Given the description of an element on the screen output the (x, y) to click on. 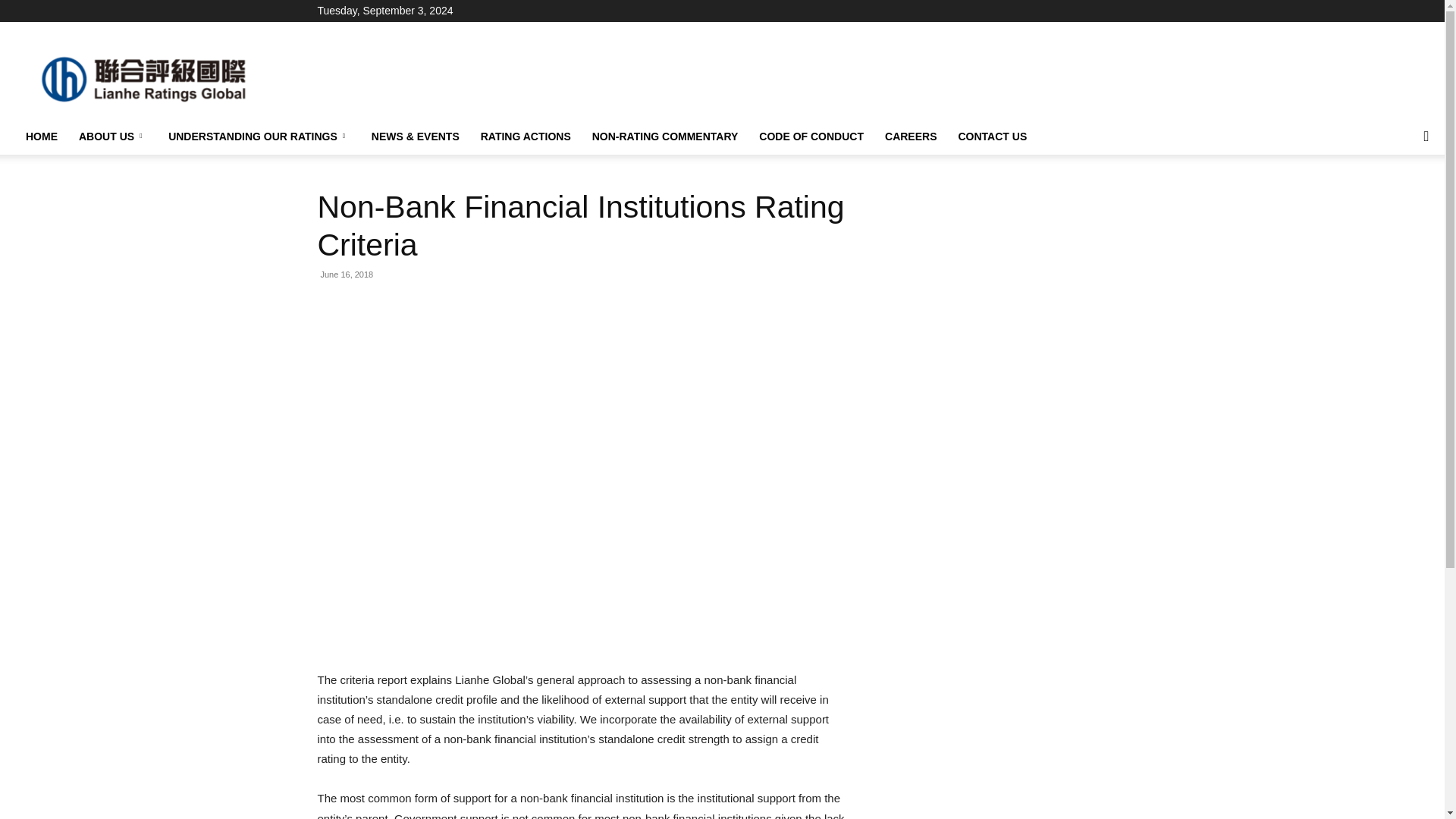
NON-RATING COMMENTARY (664, 135)
RATING ACTIONS (525, 135)
CODE OF CONDUCT (811, 135)
HOME (41, 135)
Search (1395, 197)
ABOUT US (112, 135)
CONTACT US (991, 135)
UNDERSTANDING OUR RATINGS (259, 135)
CAREERS (911, 135)
